Given the description of an element on the screen output the (x, y) to click on. 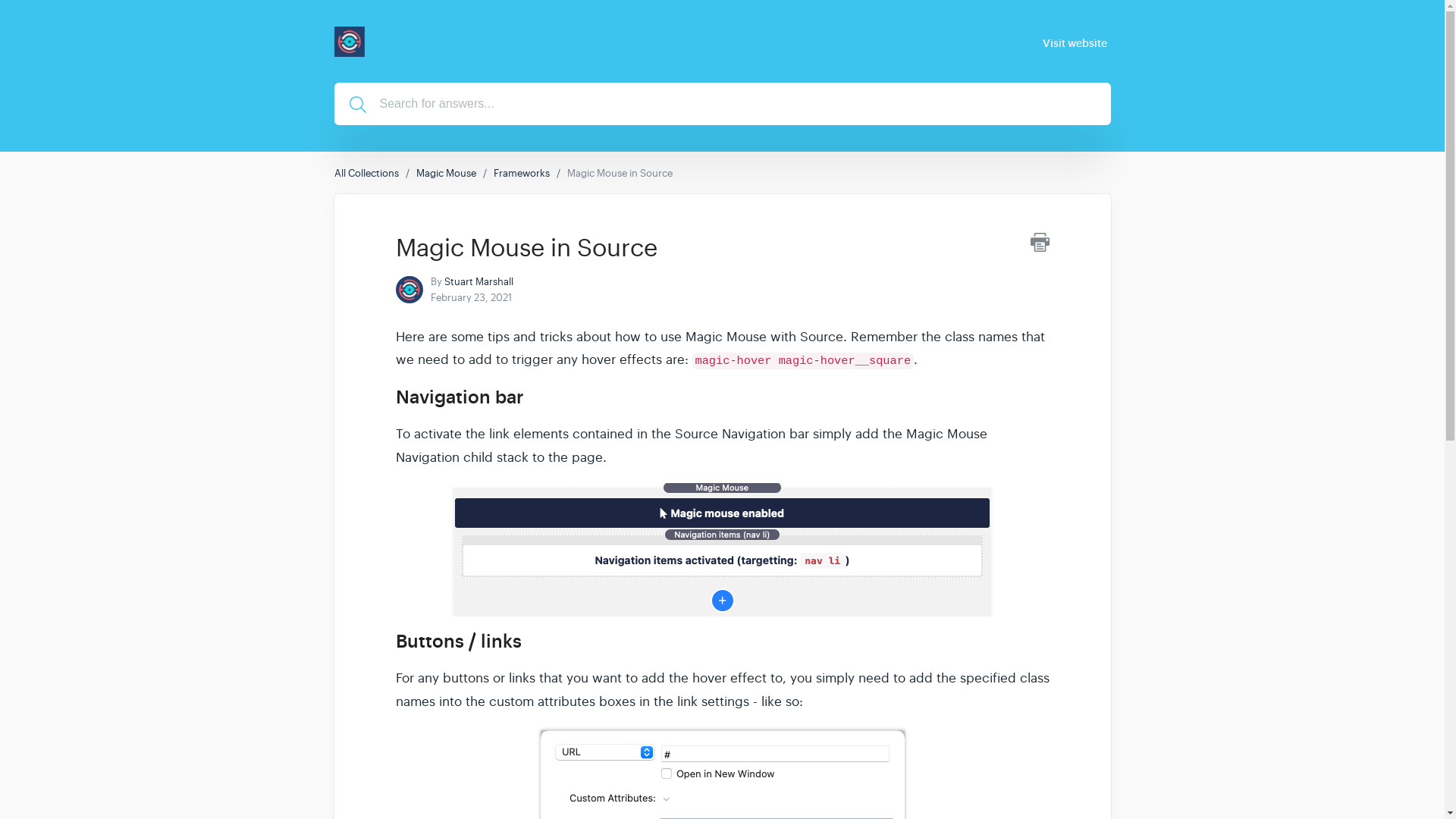
Visit website (1075, 42)
Magic Mouse (445, 173)
All Collections (365, 173)
Frameworks (520, 173)
